Given the description of an element on the screen output the (x, y) to click on. 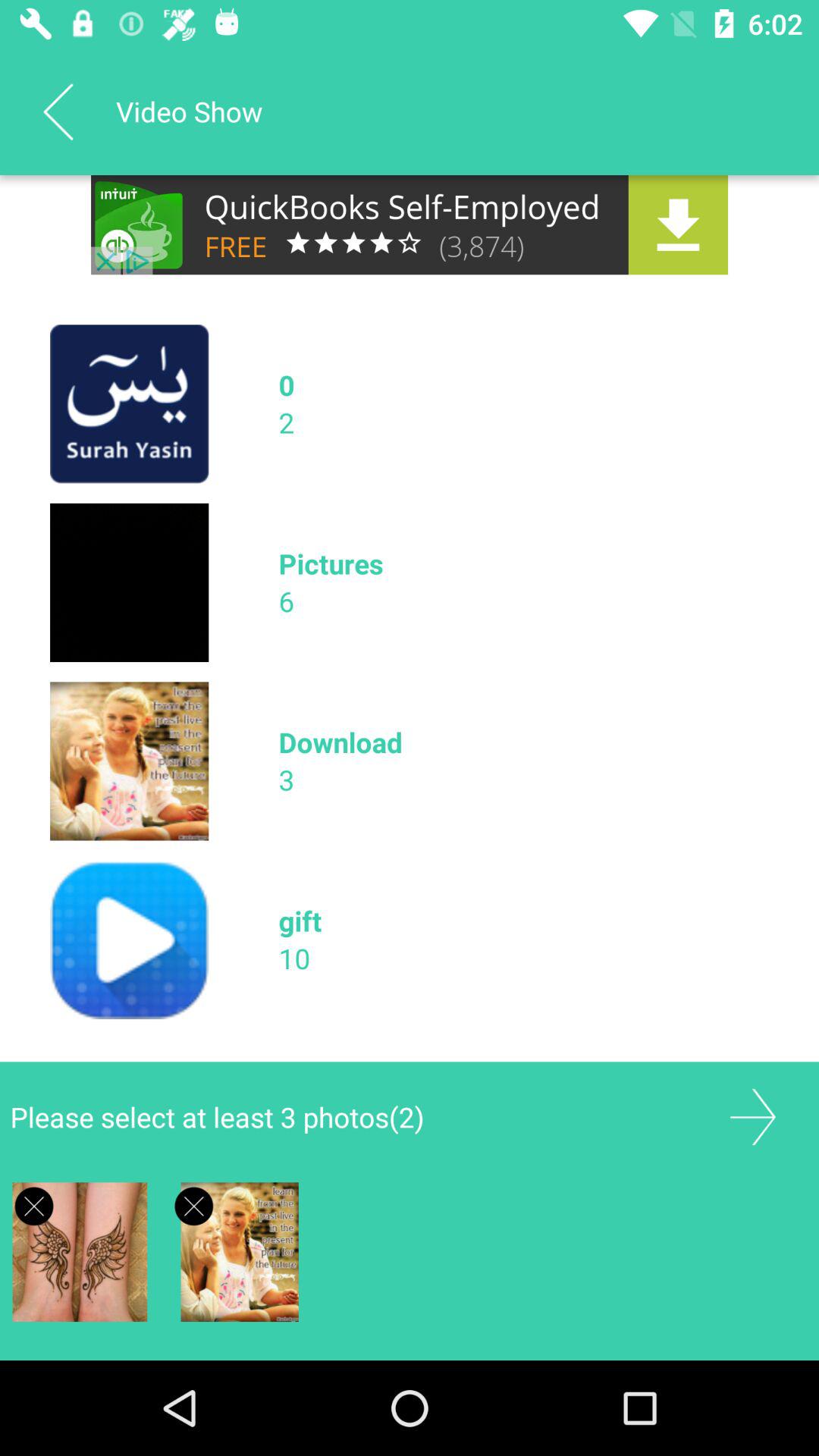
close advertisements (34, 1206)
